Given the description of an element on the screen output the (x, y) to click on. 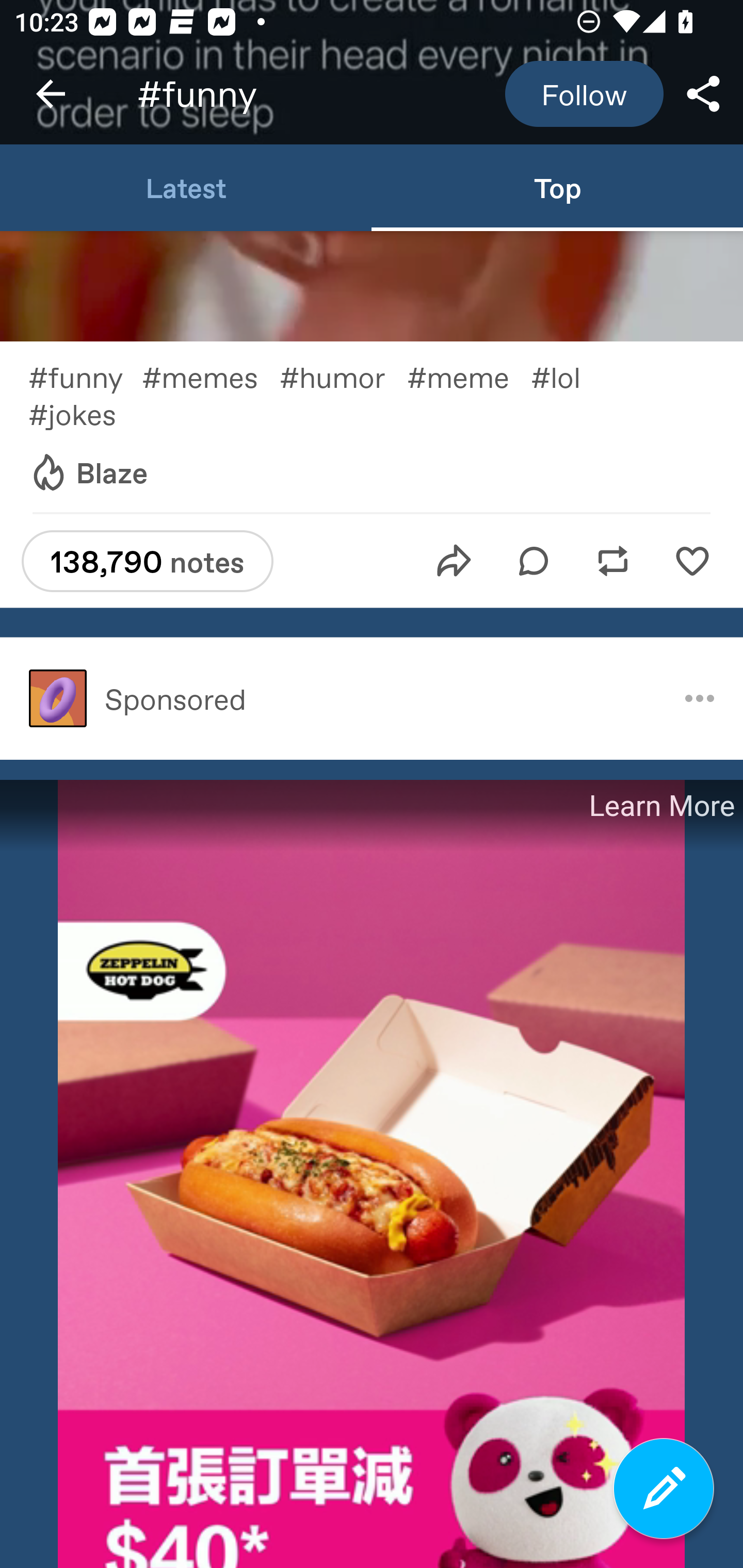
Navigate up (50, 93)
Follow (584, 94)
Latest (185, 187)
#funny (84, 376)
#memes (210, 376)
#humor (343, 376)
#meme (469, 376)
#lol (566, 376)
#jokes (86, 413)
Blaze Blaze Blaze (88, 473)
Share post to message (454, 561)
Reply (533, 561)
Reblog (612, 561)
Like (691, 561)
138,790 notes (147, 560)
Why do I see this ad? (699, 698)
Learn More (660, 805)
Compose a new post (663, 1488)
